Given the description of an element on the screen output the (x, y) to click on. 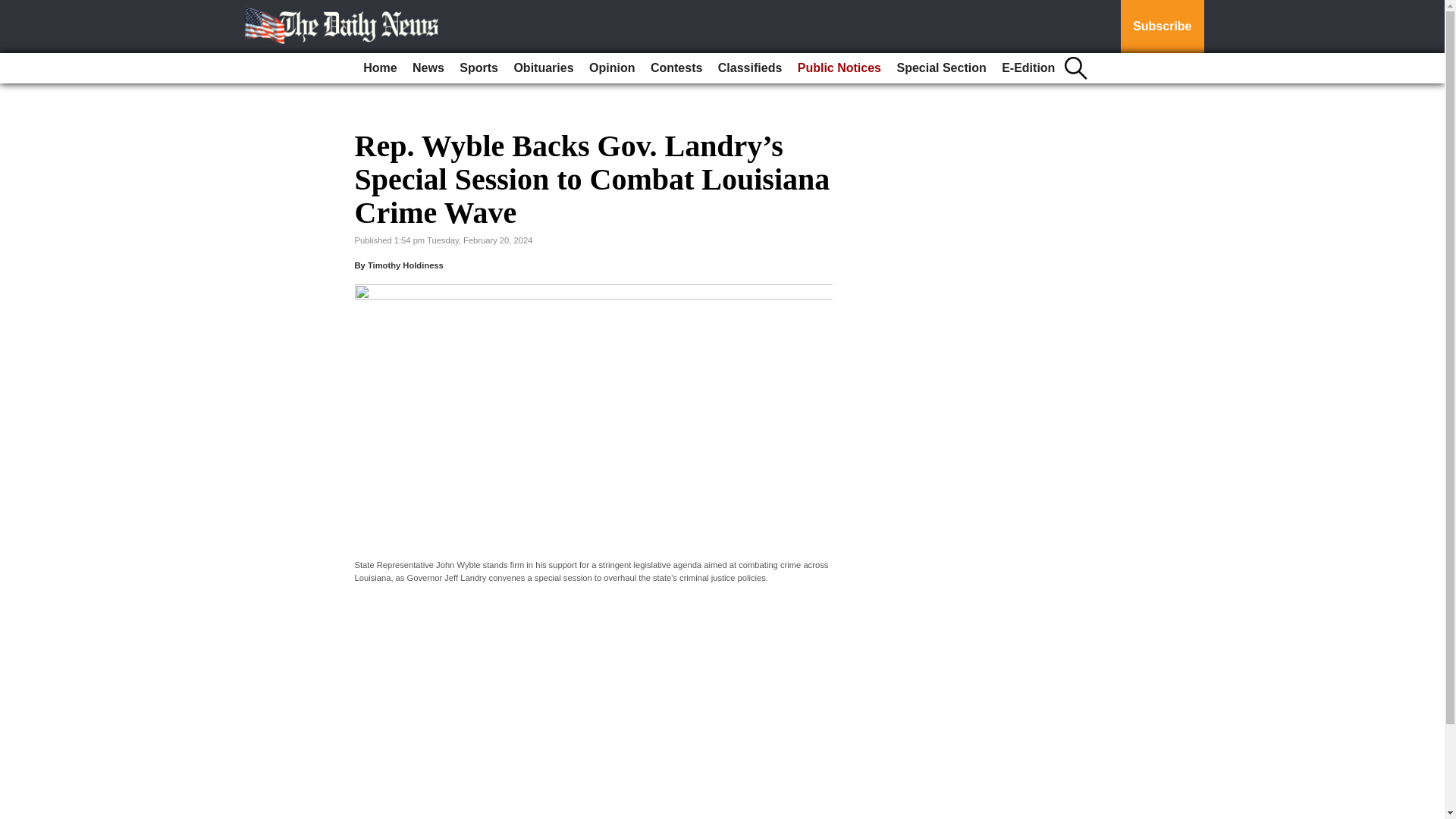
Timothy Holdiness (406, 265)
Special Section (940, 68)
News (427, 68)
Contests (676, 68)
Home (379, 68)
Sports (477, 68)
Obituaries (542, 68)
Classifieds (749, 68)
Public Notices (839, 68)
Go (13, 9)
Opinion (611, 68)
Subscribe (1162, 26)
E-Edition (1028, 68)
